Given the description of an element on the screen output the (x, y) to click on. 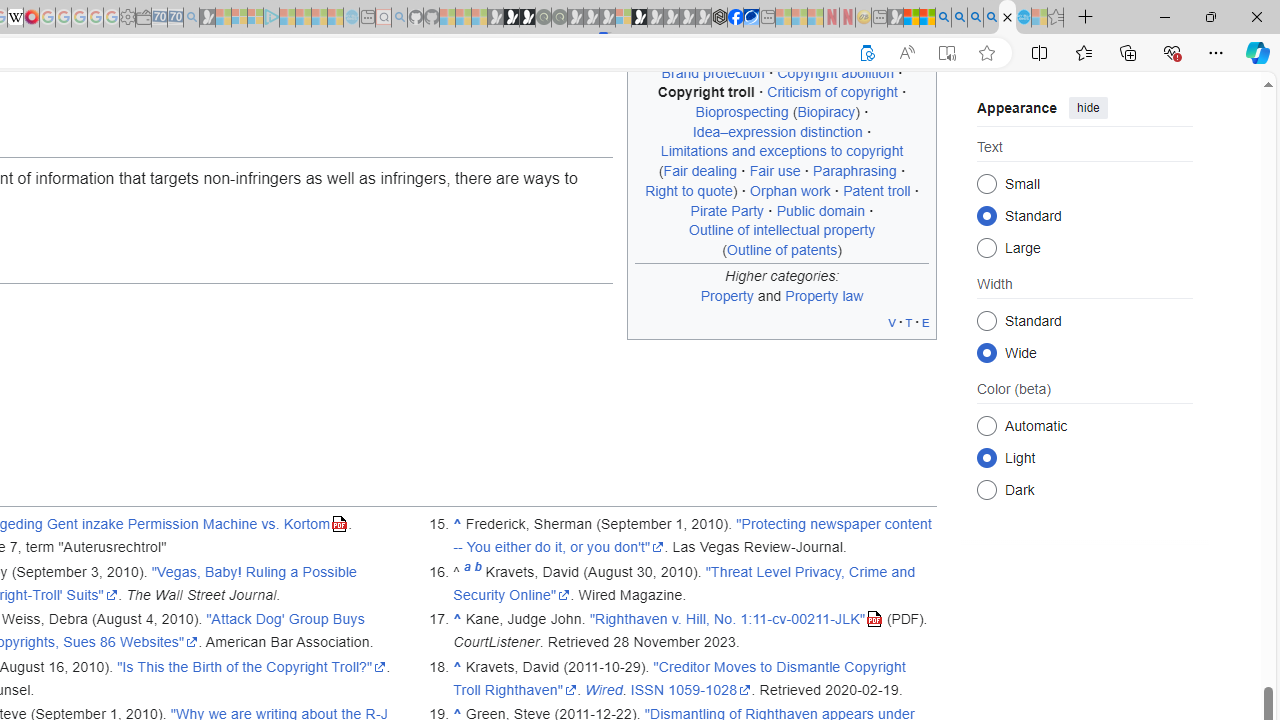
e (925, 322)
MSN - Sleeping (895, 17)
Brand protection (712, 72)
Jump up to: a (467, 571)
Paraphrasing (854, 171)
Dark (986, 488)
Public domain (820, 210)
